Given the description of an element on the screen output the (x, y) to click on. 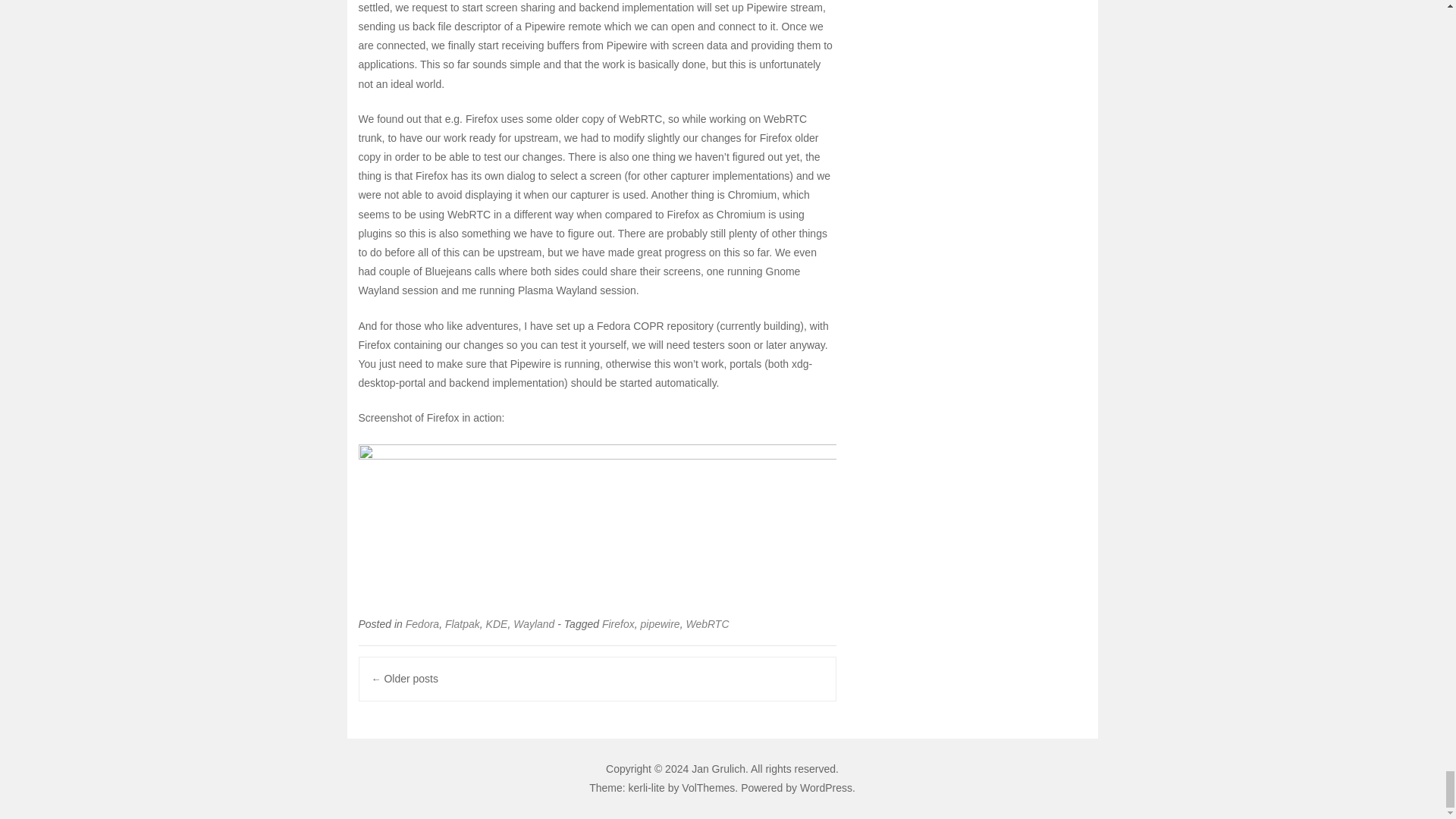
Jan Grulich (718, 768)
VolThemes (708, 787)
WordPress (825, 787)
